Given the description of an element on the screen output the (x, y) to click on. 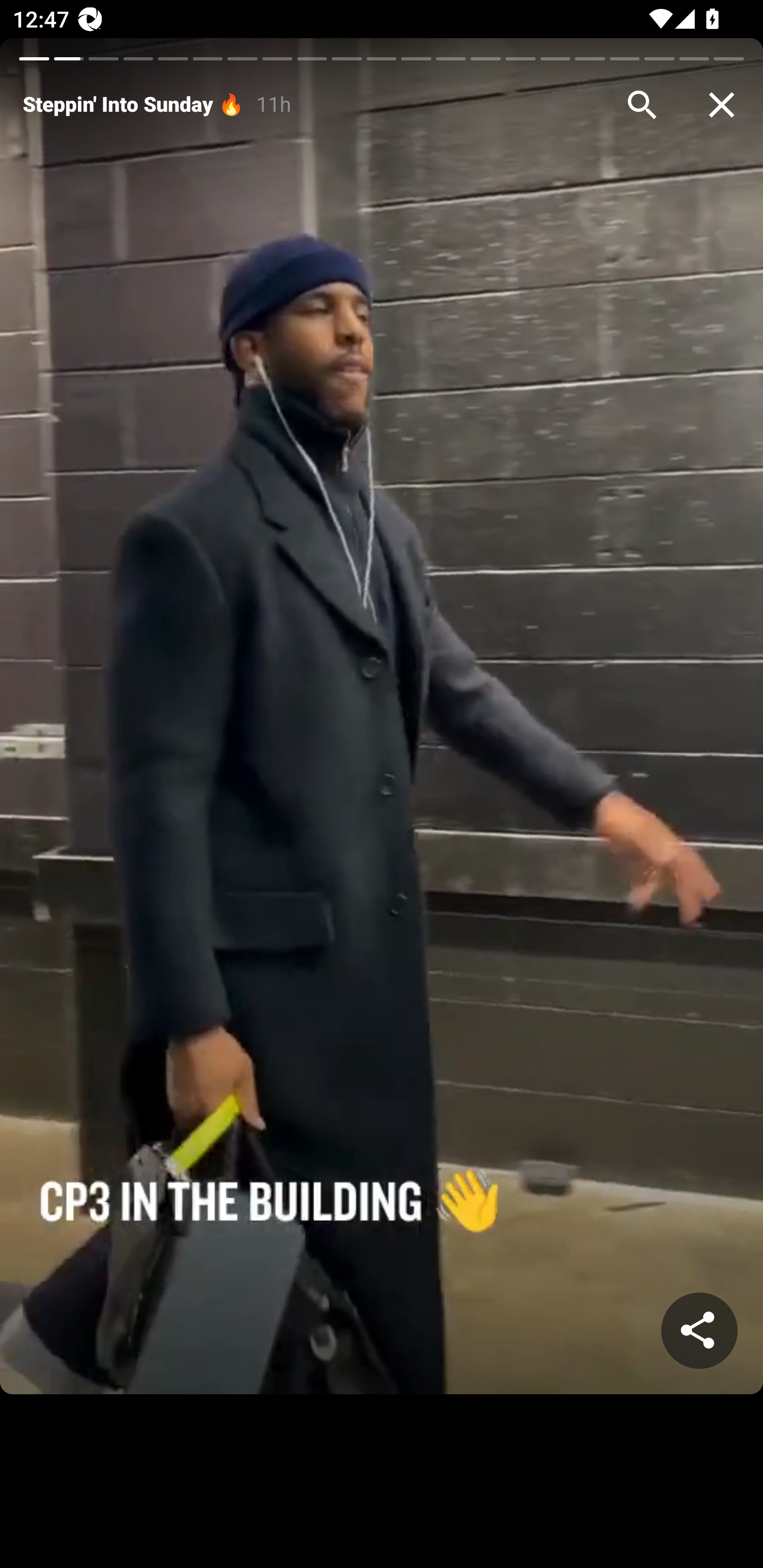
search (642, 104)
close (721, 104)
share (699, 1330)
